Given the description of an element on the screen output the (x, y) to click on. 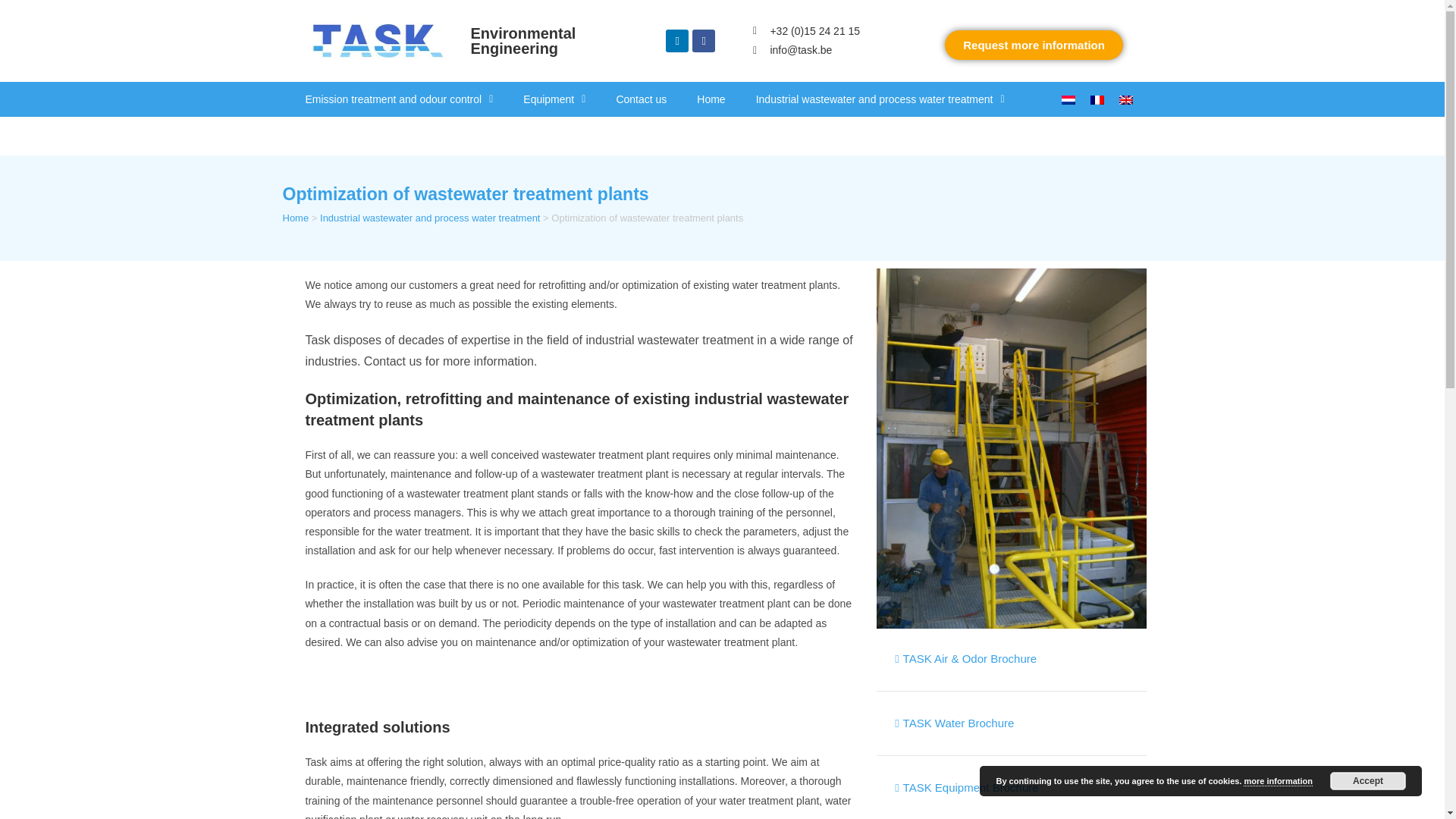
Contact us (640, 99)
Emission treatment and odour control (398, 99)
Equipment (553, 99)
Request more information (1033, 44)
Home (710, 99)
Industrial wastewater and process water treatment (880, 99)
